Given the description of an element on the screen output the (x, y) to click on. 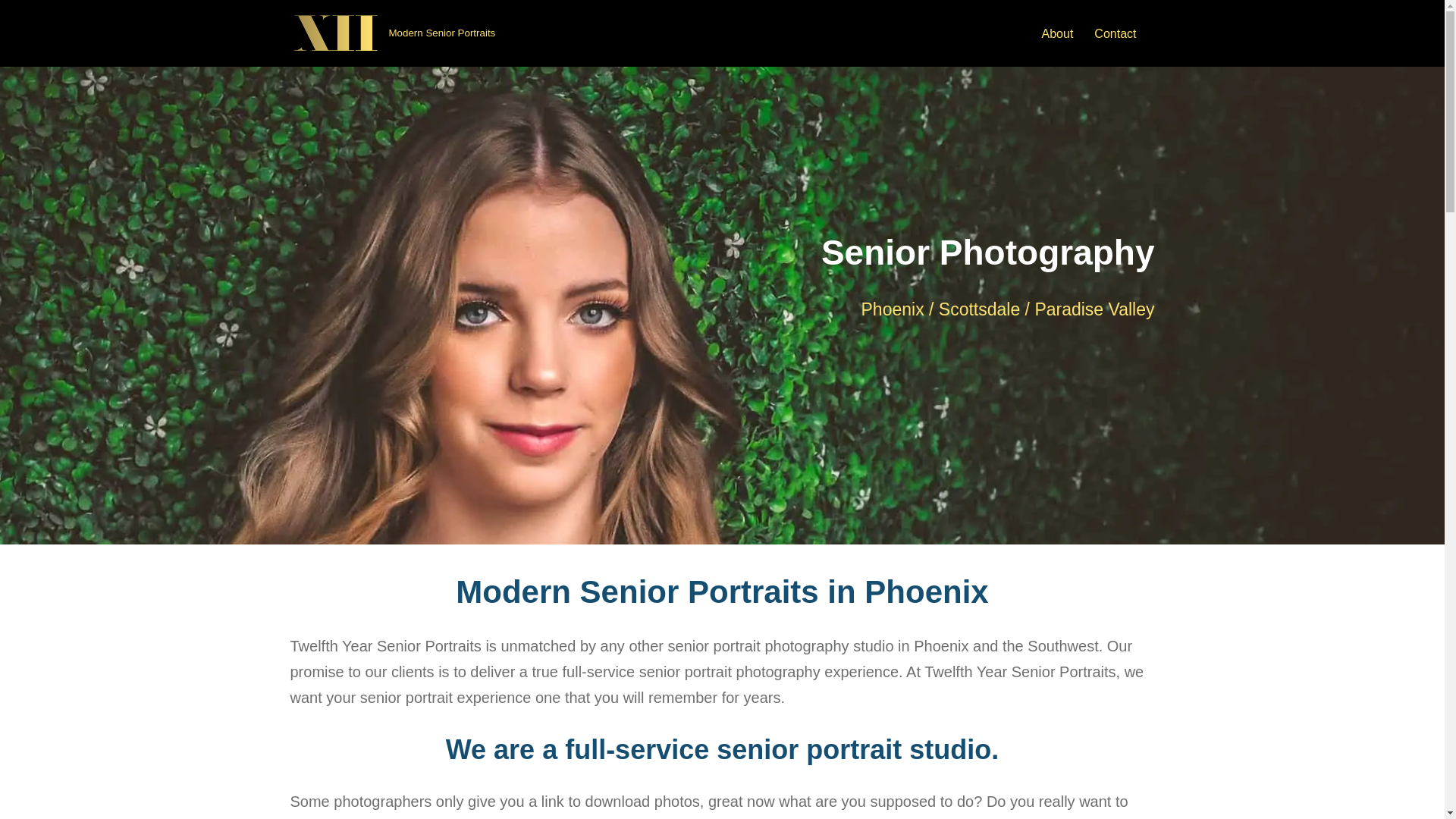
Contact Element type: text (1114, 33)
Skip to content Element type: text (11, 31)
Modern Senior Portraits Element type: text (392, 33)
About Element type: text (1057, 33)
